Given the description of an element on the screen output the (x, y) to click on. 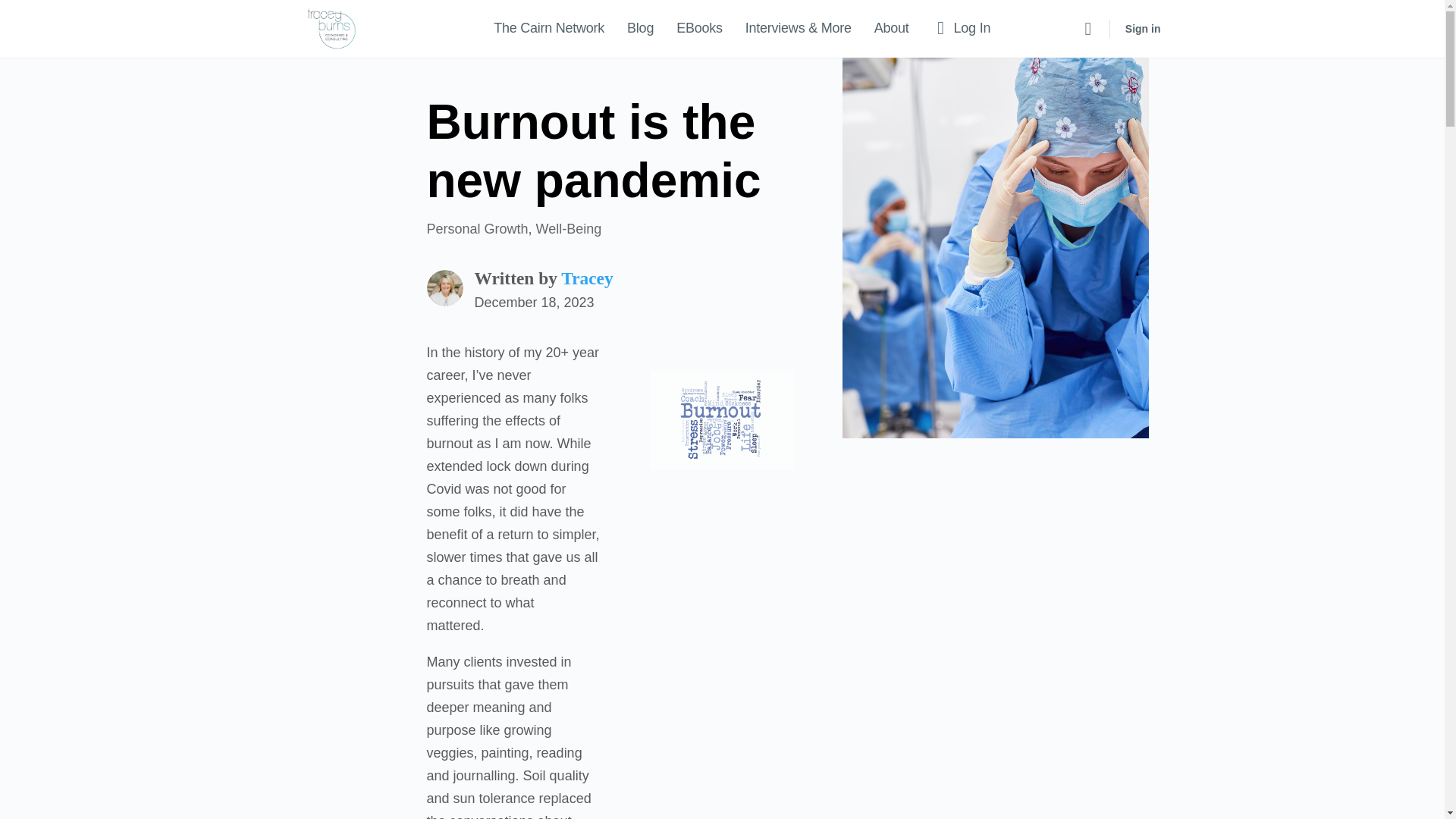
Sign in (1143, 28)
Tracey (586, 281)
The Cairn Network (548, 28)
Log In (961, 28)
Personal Growth (476, 232)
Burnout 2 (721, 419)
EBooks (699, 28)
Well-Being (568, 232)
